Given the description of an element on the screen output the (x, y) to click on. 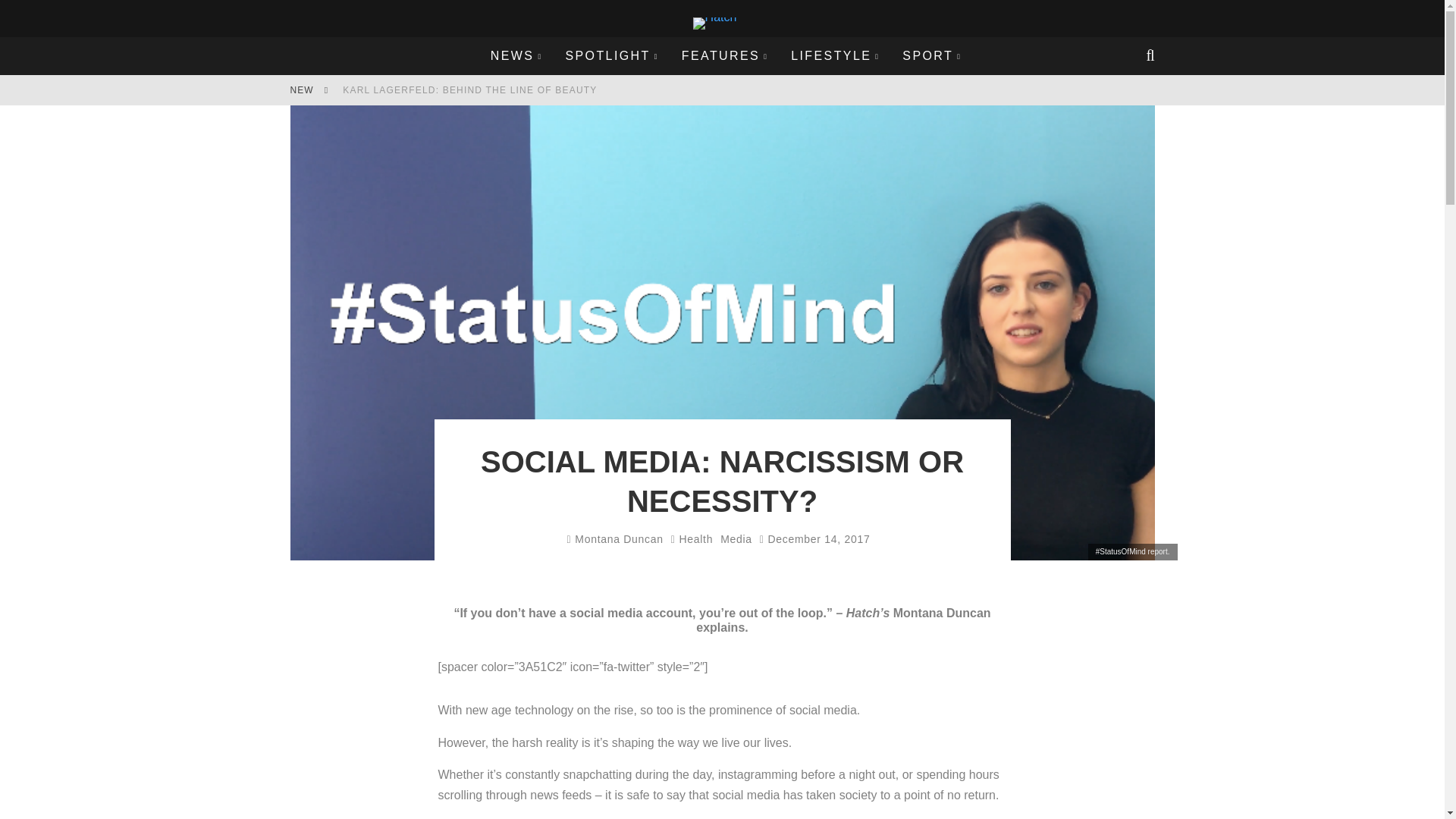
FEATURES (723, 55)
NEWS (516, 55)
Karl Lagerfeld: Behind the line of beauty (469, 90)
SPOTLIGHT (611, 55)
